Given the description of an element on the screen output the (x, y) to click on. 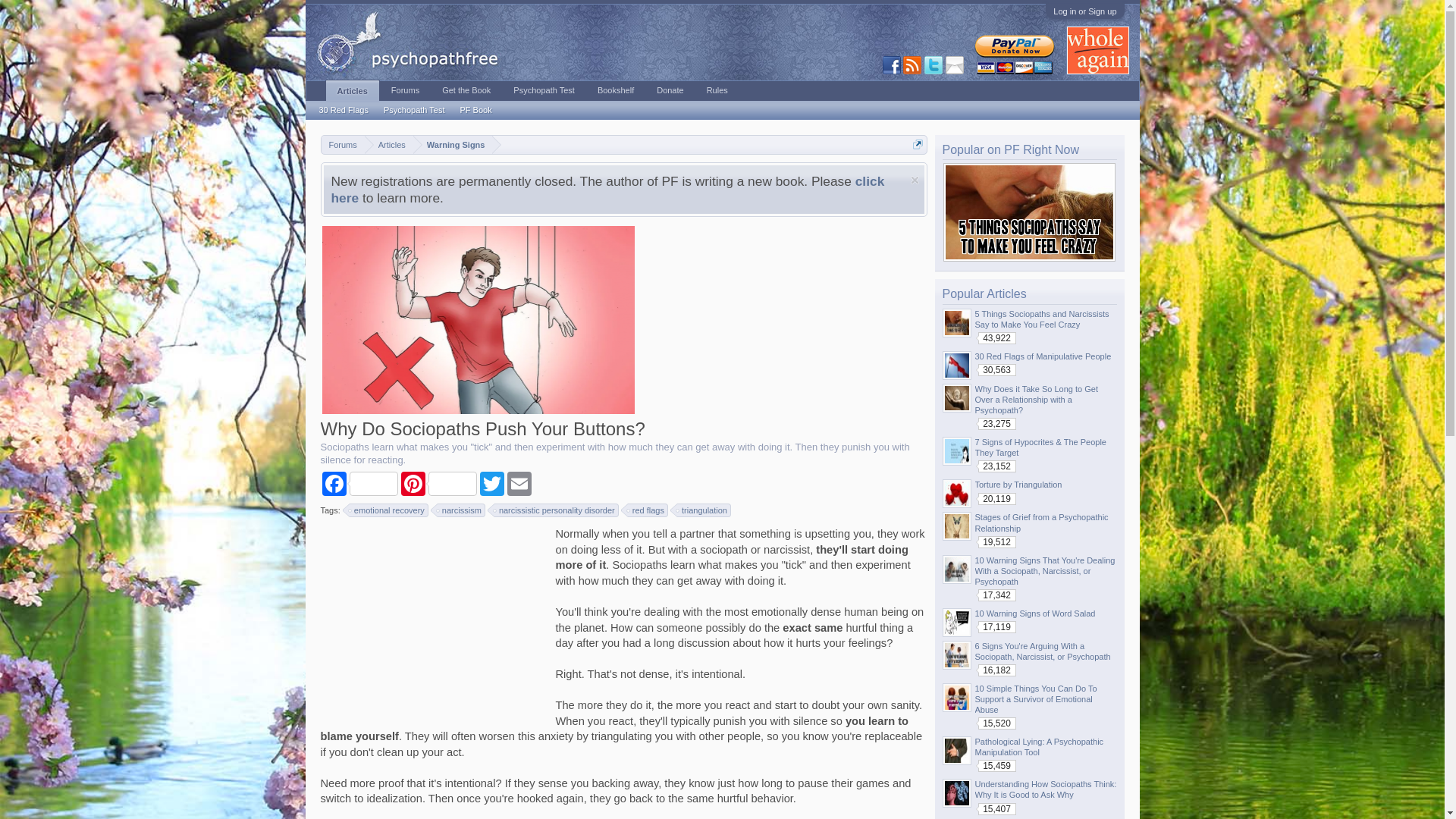
Facebook (359, 483)
red flags (647, 509)
Forums (343, 144)
emotional recovery (388, 509)
Articles (389, 144)
triangulation (703, 509)
Twitter (491, 483)
Warning Signs (453, 144)
Pinterest (437, 483)
narcissism (461, 509)
narcissistic personality disorder (556, 509)
Email (518, 483)
Advertisement (433, 620)
